Given the description of an element on the screen output the (x, y) to click on. 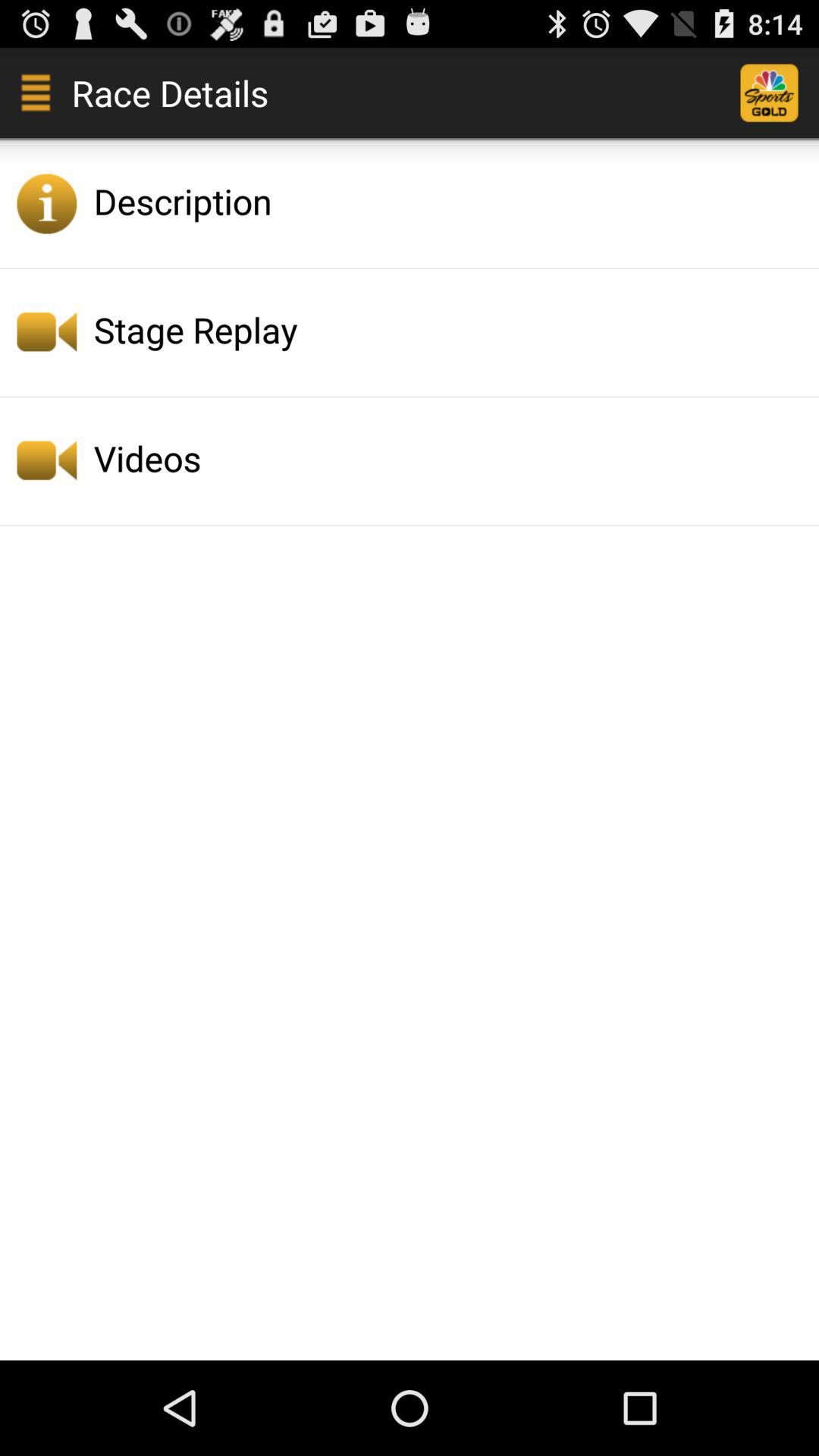
jump until videos icon (452, 457)
